Given the description of an element on the screen output the (x, y) to click on. 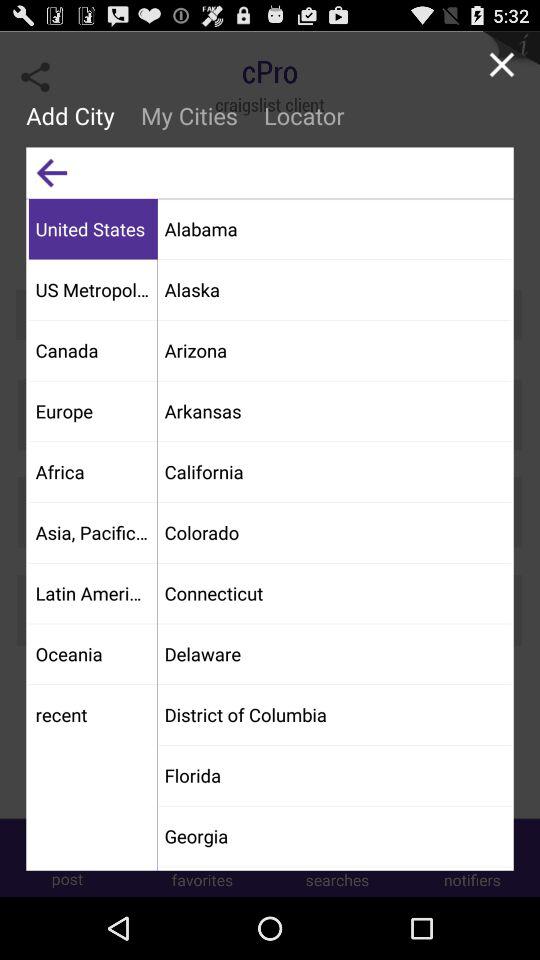
flip until arizona icon (334, 349)
